Given the description of an element on the screen output the (x, y) to click on. 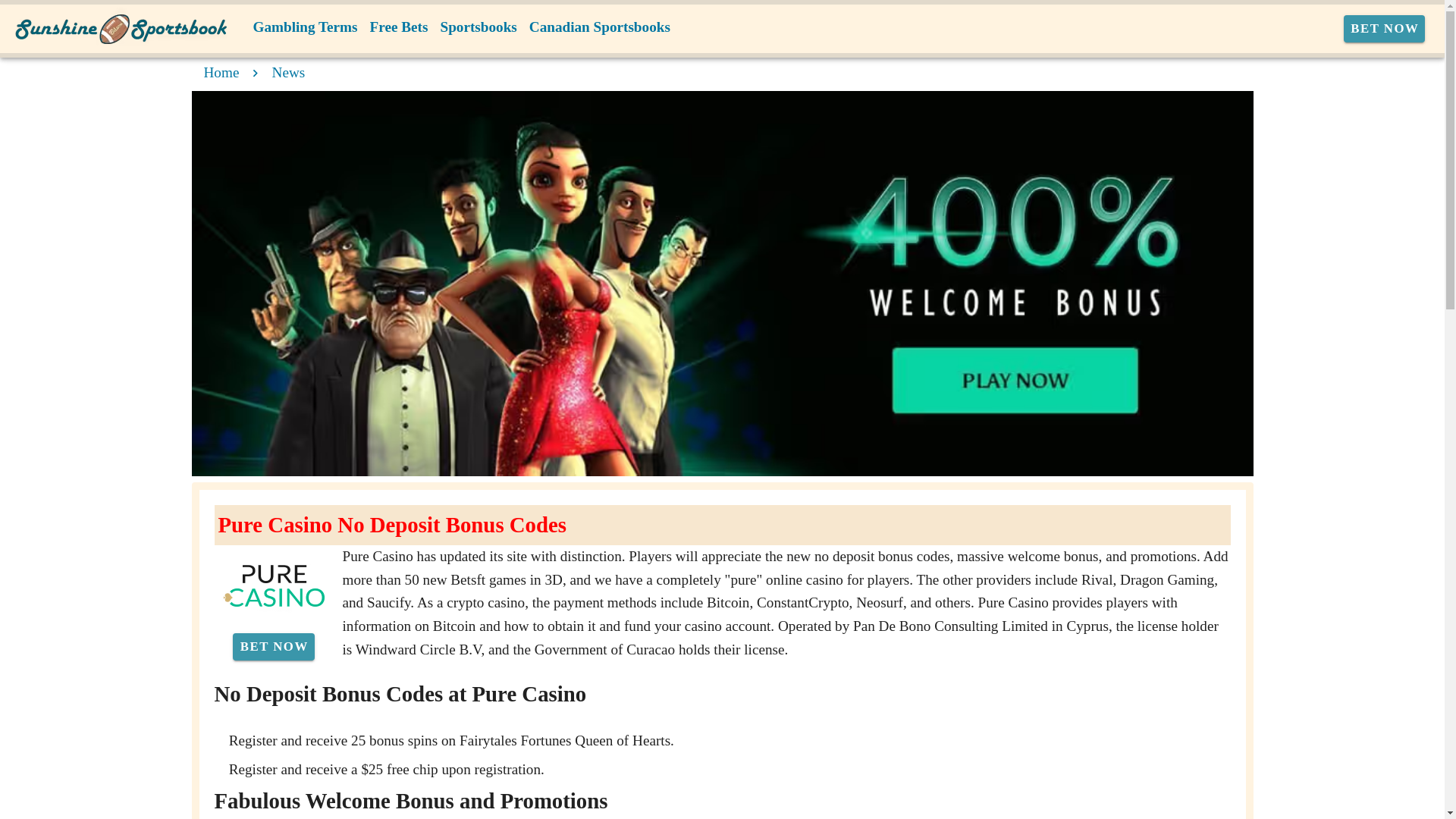
Gambling Terms (305, 27)
Canadian Sportsbooks (599, 27)
Free Bets (398, 27)
BET NOW (1384, 28)
BET NOW (273, 646)
Sportsbooks (477, 27)
Home (220, 72)
News (288, 72)
